Given the description of an element on the screen output the (x, y) to click on. 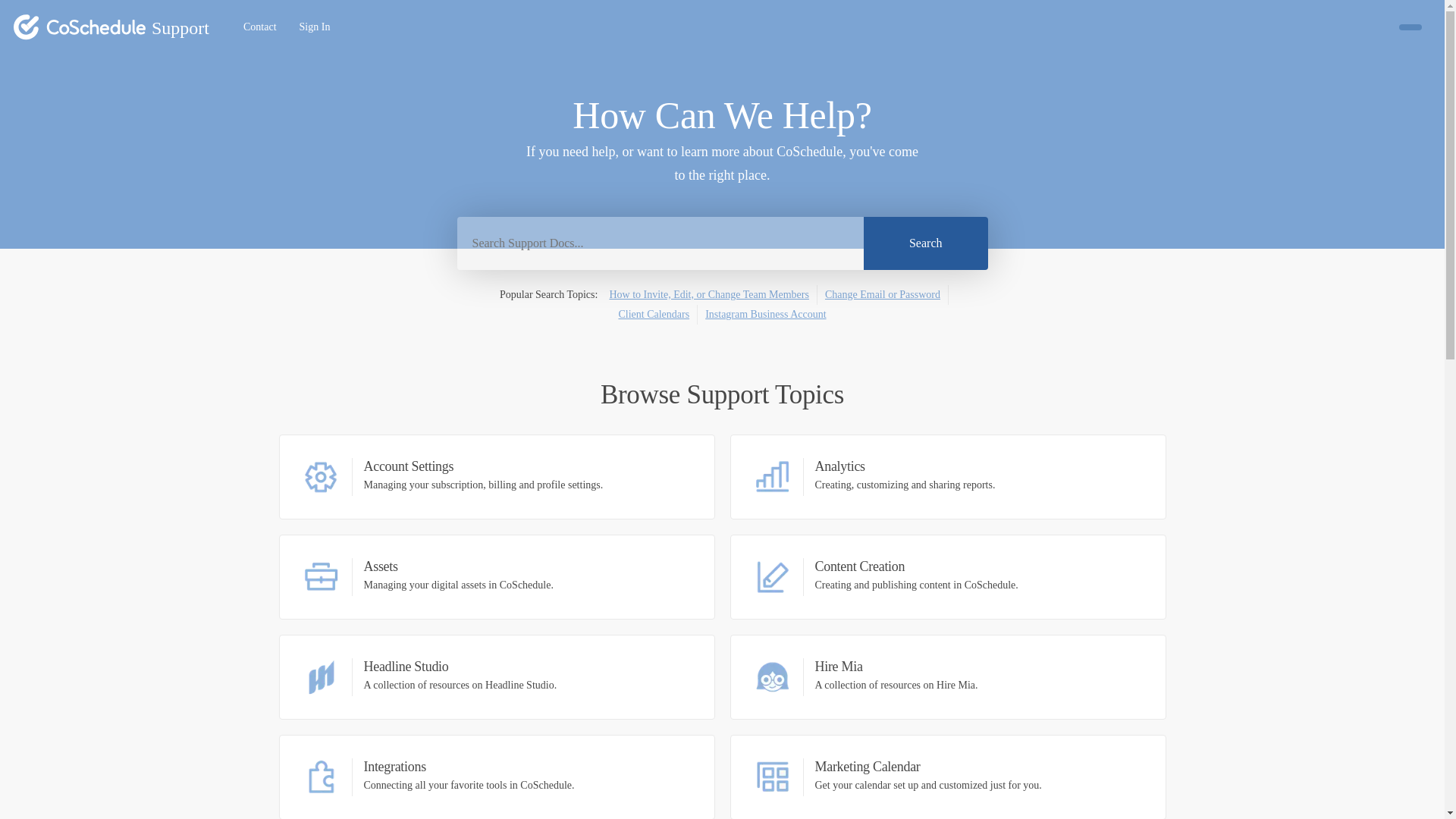
Contact (259, 26)
Search Instagram Business Account (764, 314)
Contact CoSchedule's Support Team (496, 576)
Search (259, 26)
CoSchedule Support Home (925, 243)
Sign in to your CoSchedule account (110, 26)
Search Change Email or Password (947, 676)
How to Invite, Edit, or Change Team Members (315, 26)
